Given the description of an element on the screen output the (x, y) to click on. 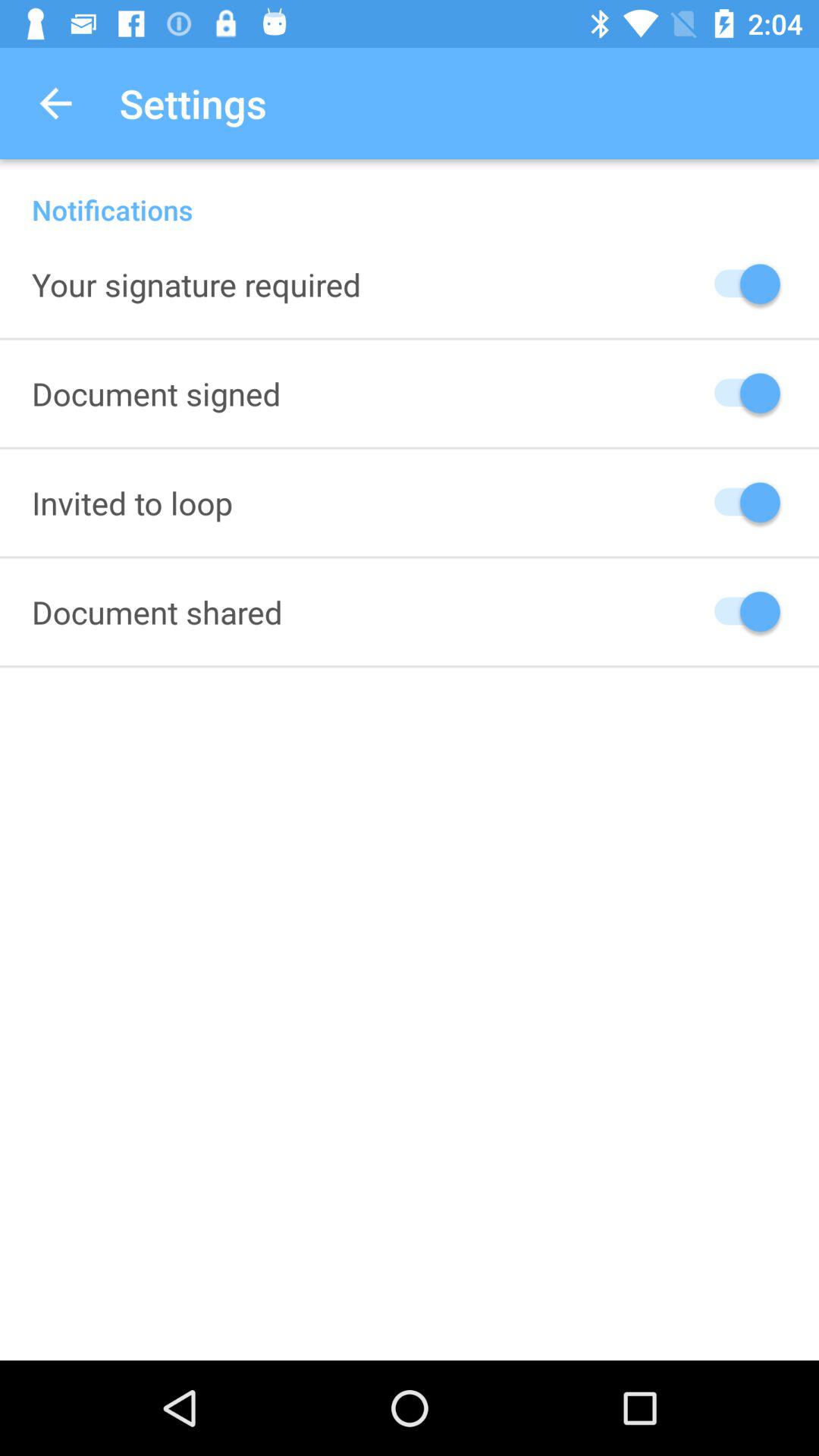
choose the document signed item (155, 393)
